Given the description of an element on the screen output the (x, y) to click on. 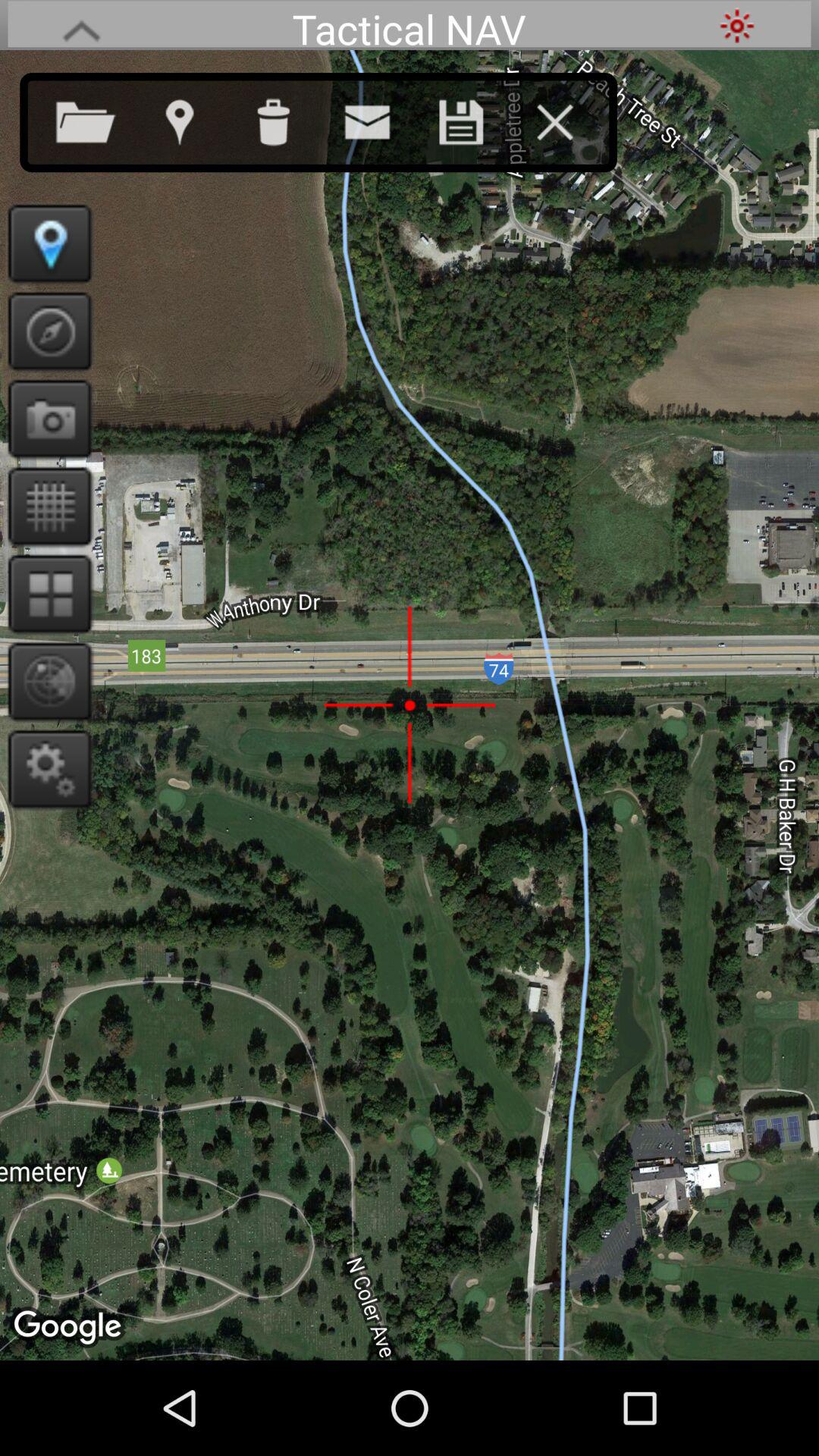
go back (81, 25)
